Given the description of an element on the screen output the (x, y) to click on. 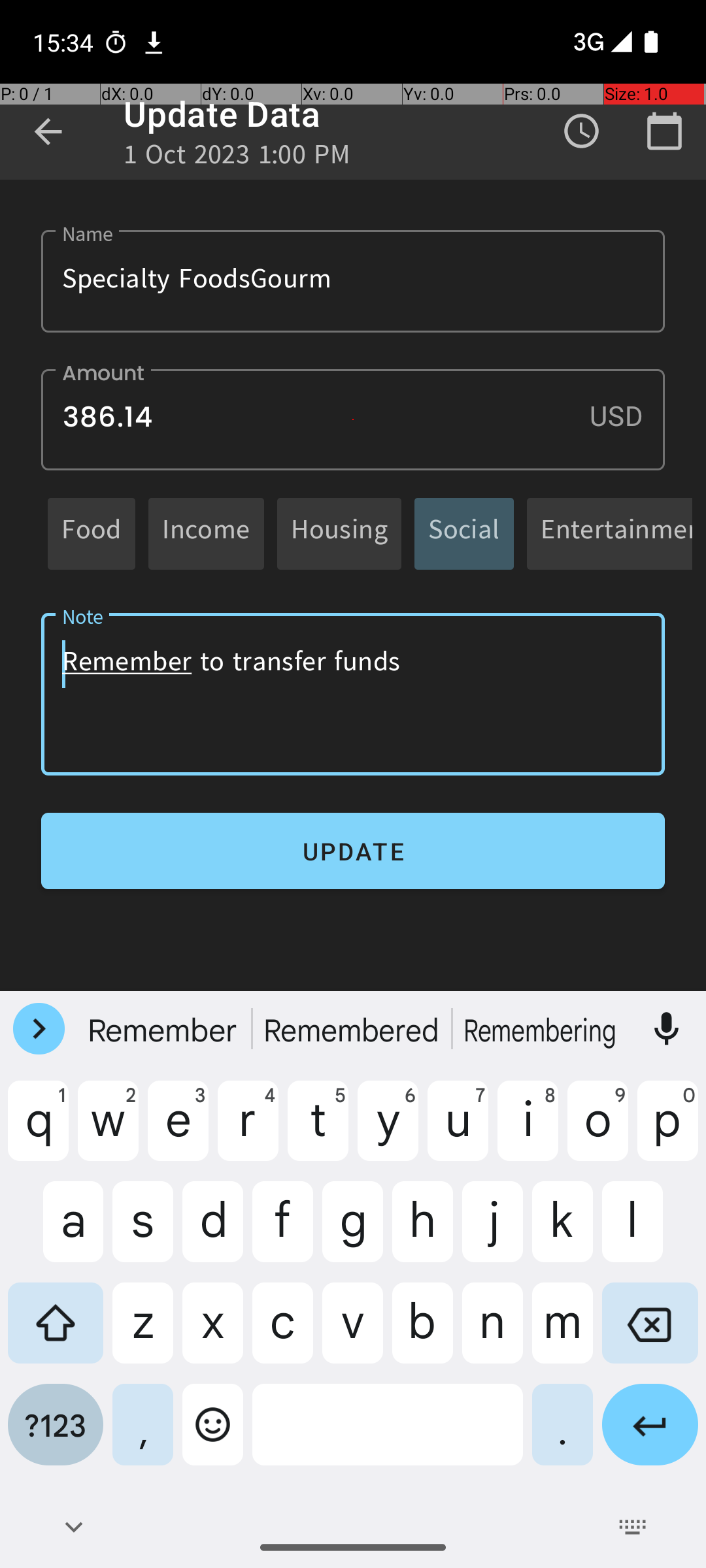
1 Oct 2023 1:00 PM Element type: android.widget.TextView (237, 157)
Specialty FoodsGourm Element type: android.widget.EditText (352, 280)
386.14 Element type: android.widget.EditText (352, 419)
Remember Element type: android.widget.FrameLayout (163, 1028)
Remembered Element type: android.widget.FrameLayout (352, 1028)
Remembering Element type: android.widget.FrameLayout (541, 1028)
